Given the description of an element on the screen output the (x, y) to click on. 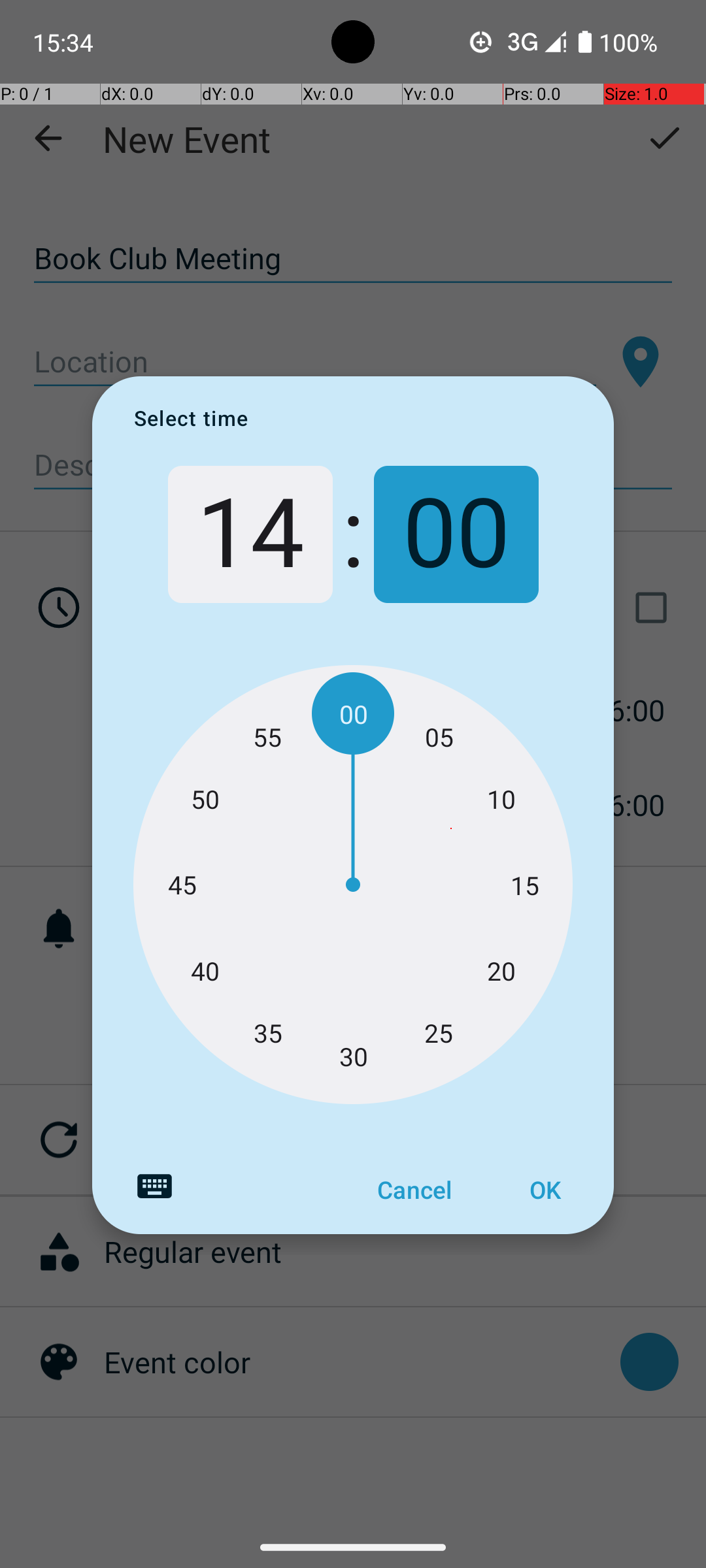
05 Element type: android.widget.TextView (439, 736)
